Given the description of an element on the screen output the (x, y) to click on. 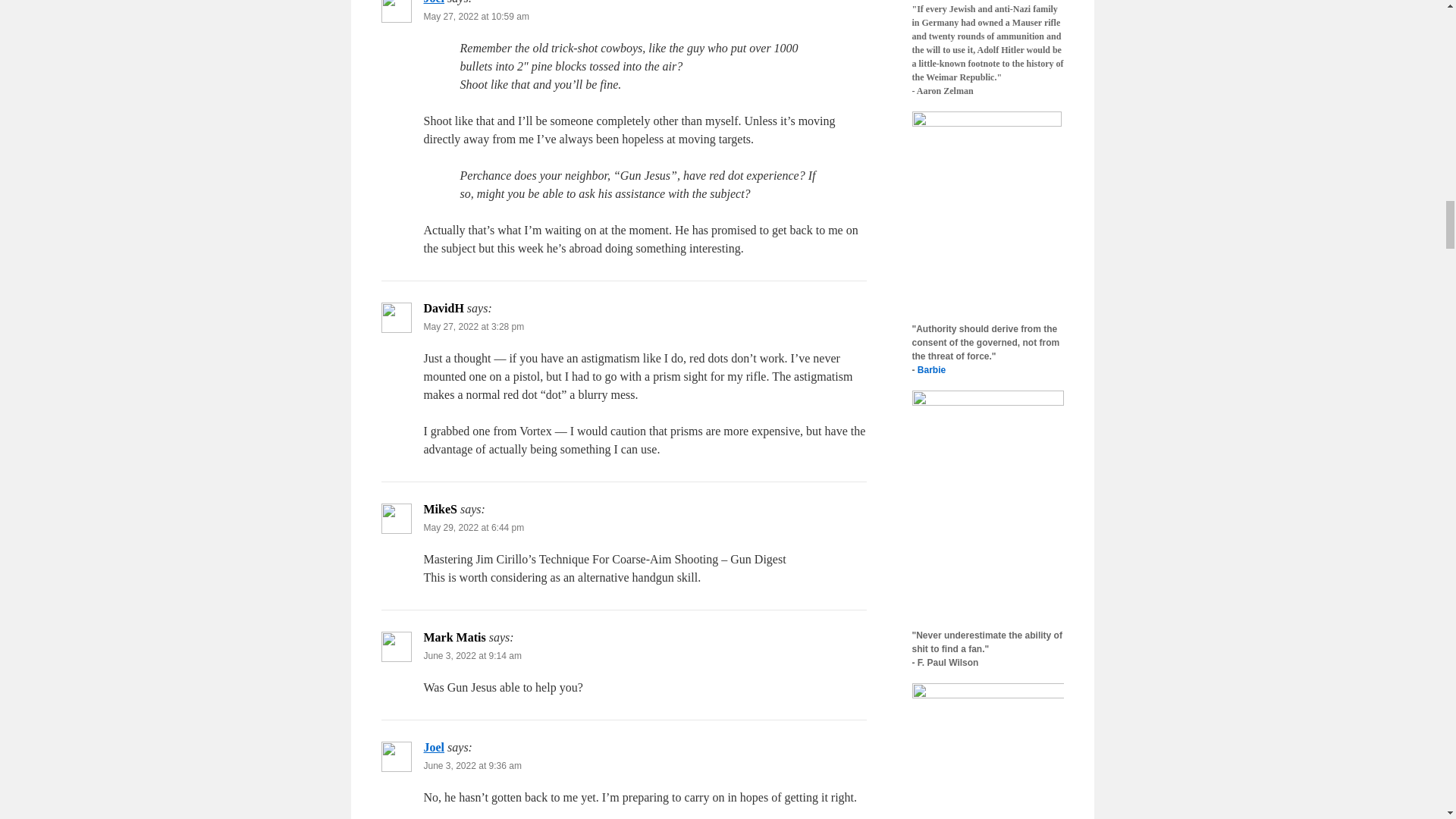
June 3, 2022 at 9:36 am (472, 765)
Joel (433, 747)
Joel (433, 2)
May 27, 2022 at 3:28 pm (473, 326)
May 29, 2022 at 6:44 pm (473, 527)
May 27, 2022 at 10:59 am (475, 16)
June 3, 2022 at 9:14 am (472, 655)
